Given the description of an element on the screen output the (x, y) to click on. 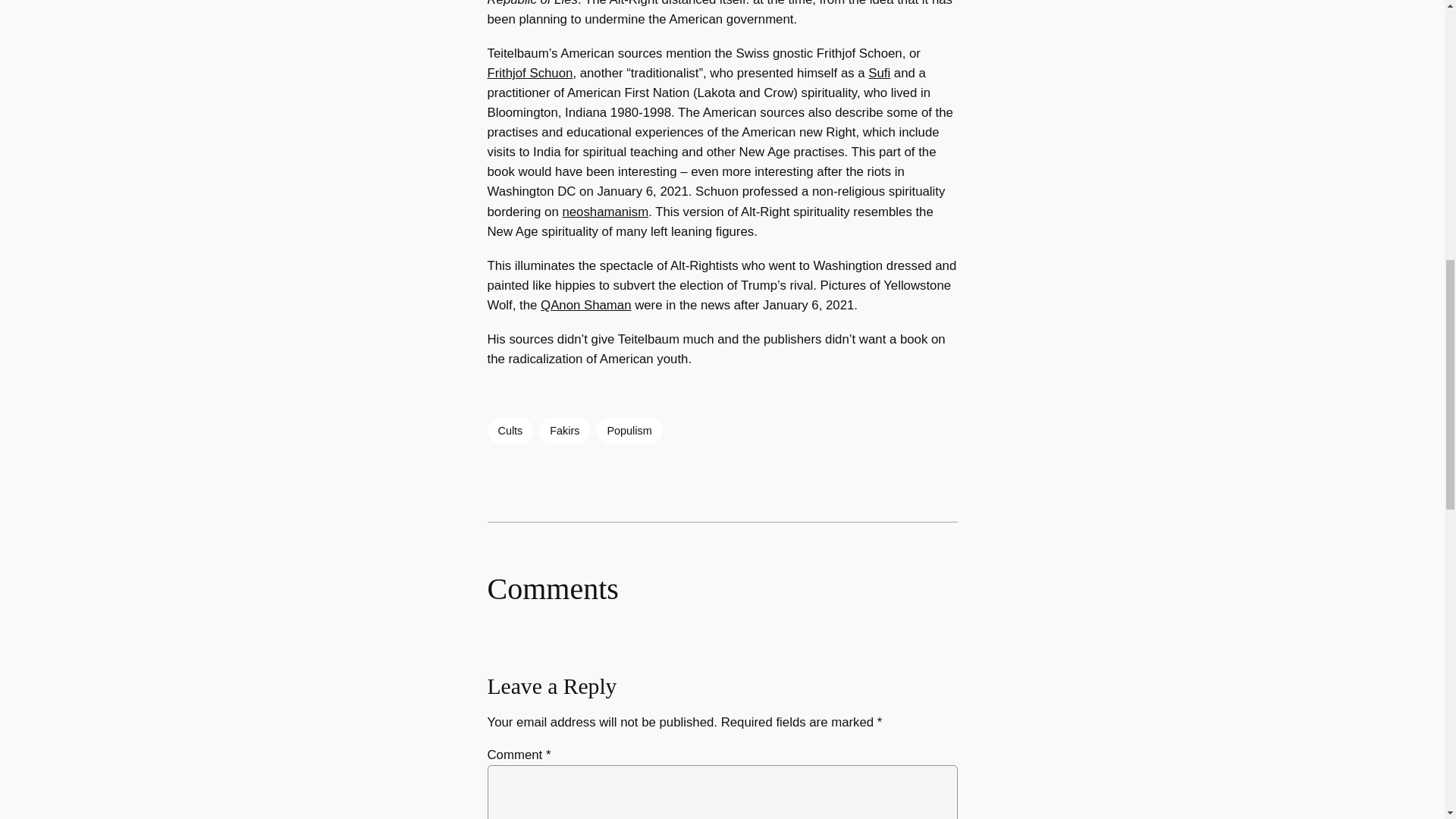
Cults (509, 430)
neoshamanism (604, 211)
Fakirs (563, 430)
Frithjof Schuon (529, 73)
Sufi (878, 73)
Populism (628, 430)
QAnon Shaman (585, 305)
